Given the description of an element on the screen output the (x, y) to click on. 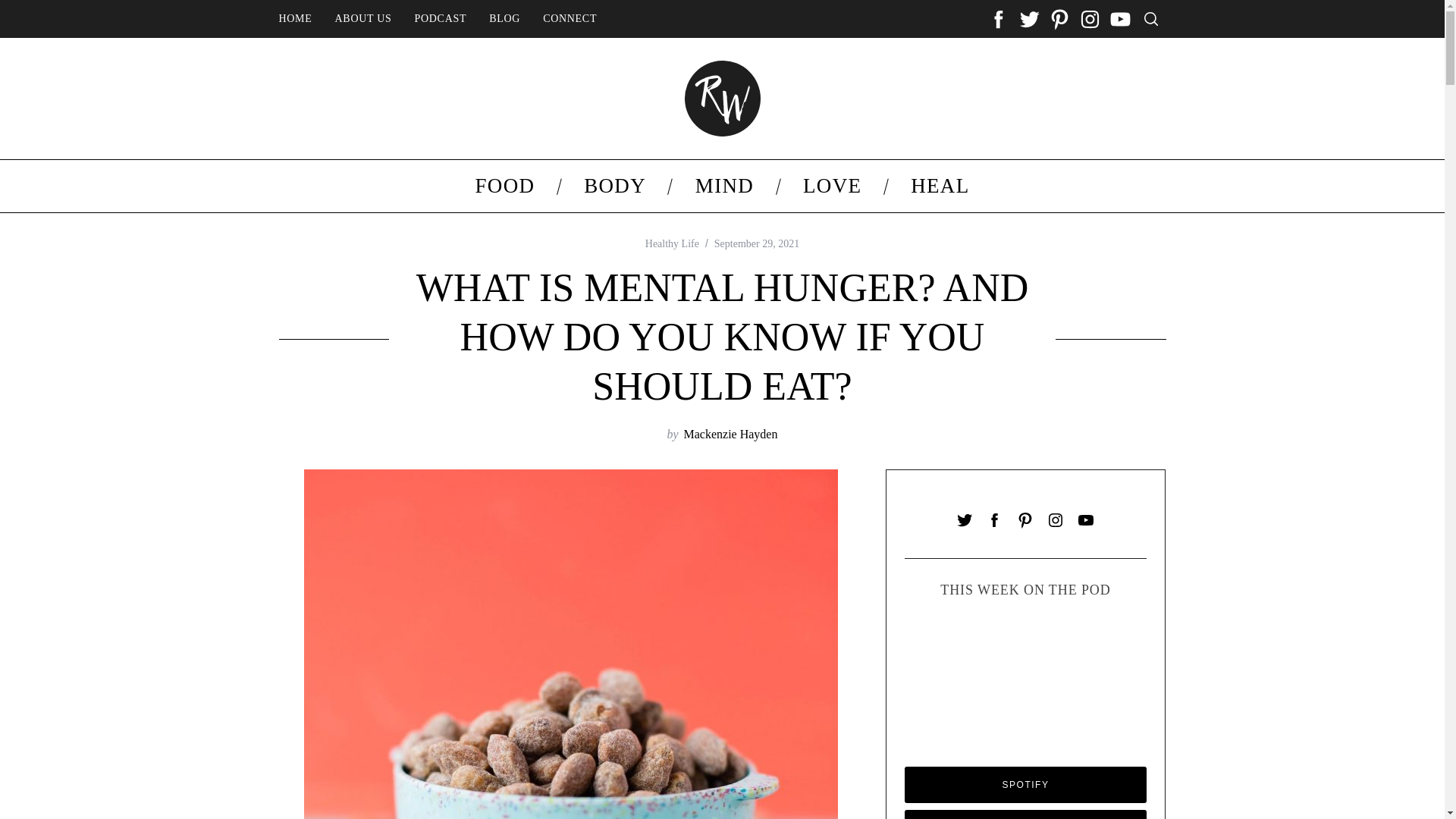
PODCAST (441, 19)
CONNECT (569, 19)
MIND (723, 185)
FOOD (504, 185)
BODY (615, 185)
ABOUT US (363, 19)
HOME (294, 19)
BLOG (504, 19)
LOVE (832, 185)
